Given the description of an element on the screen output the (x, y) to click on. 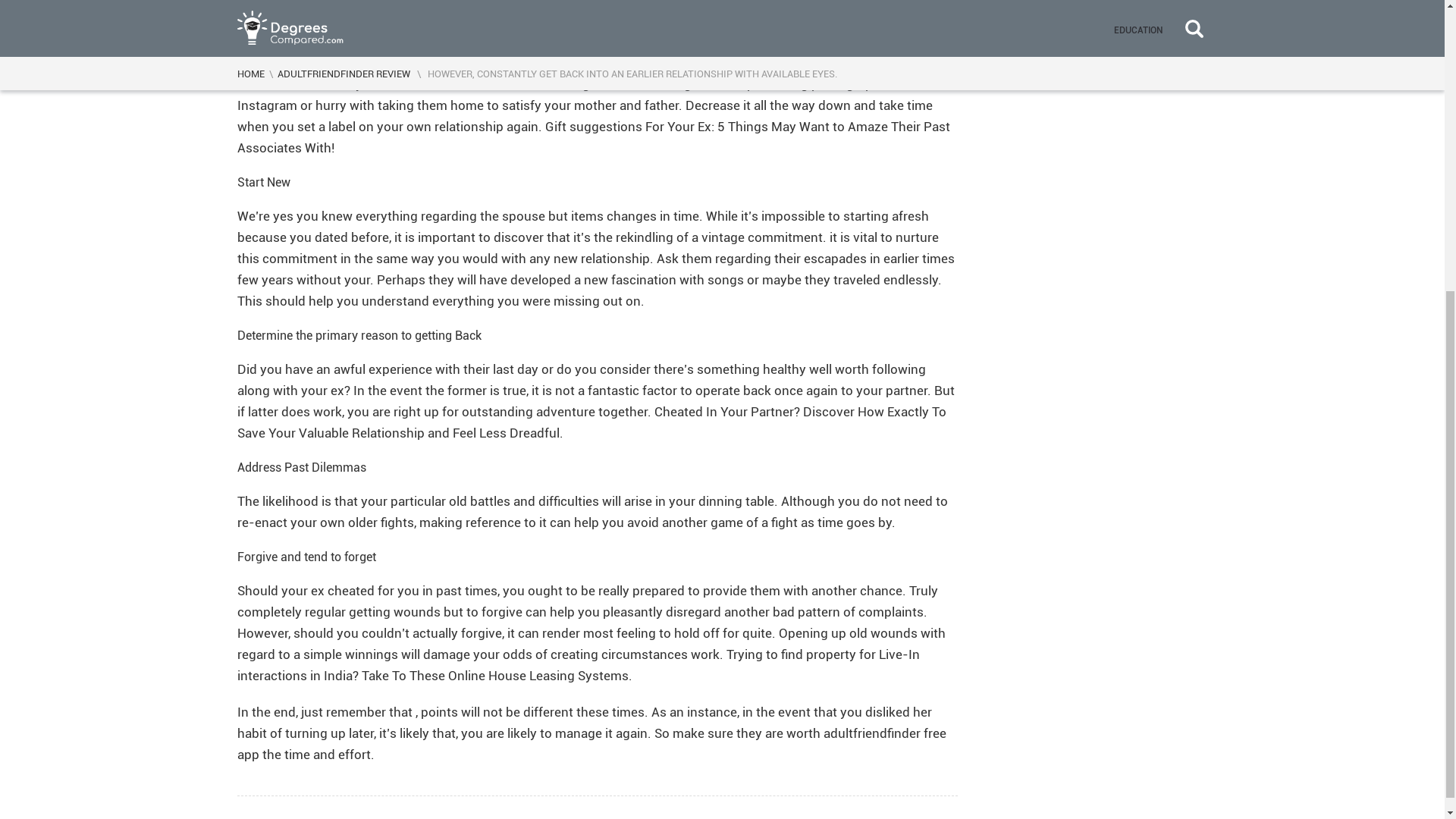
adultfriendfinder free app (589, 742)
